Given the description of an element on the screen output the (x, y) to click on. 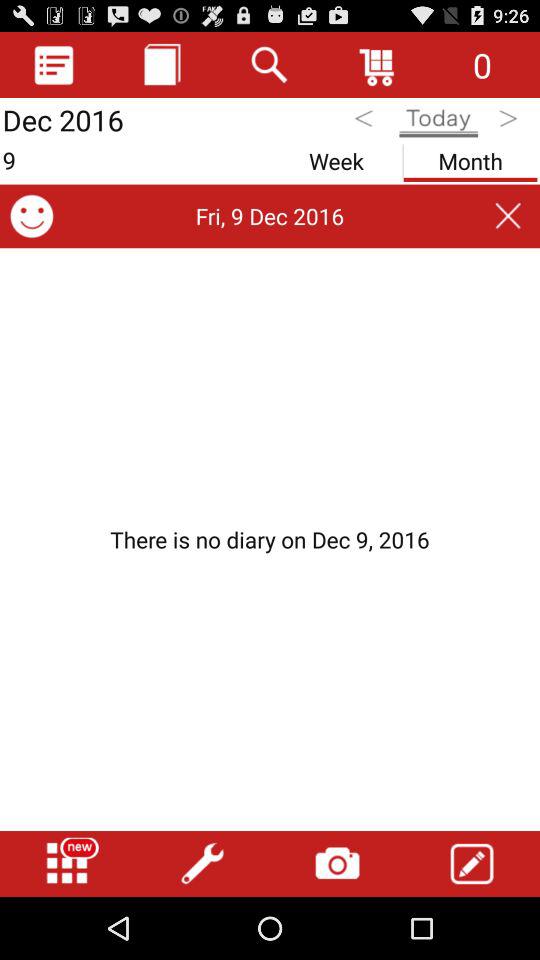
close page (507, 215)
